Given the description of an element on the screen output the (x, y) to click on. 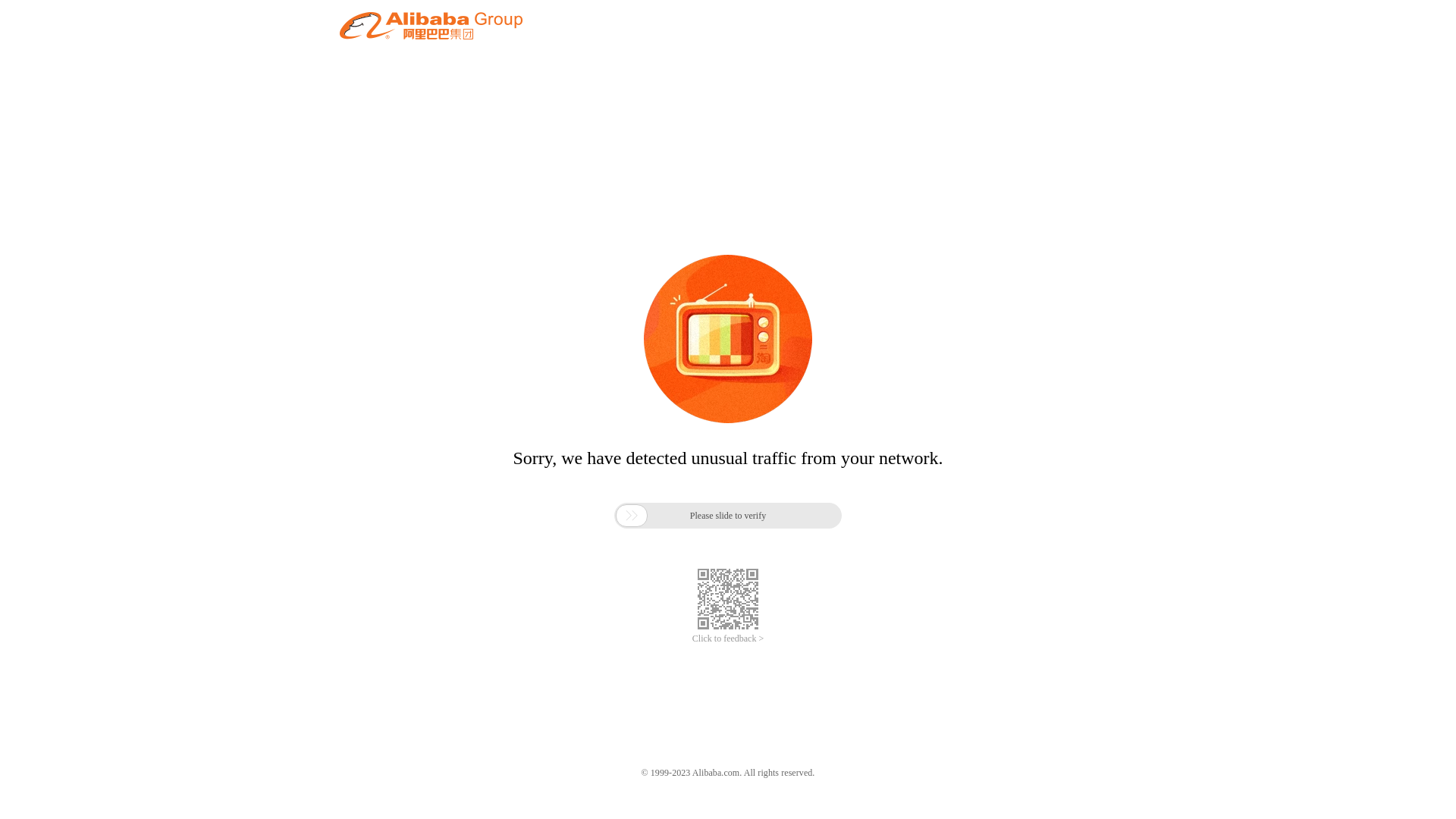
Click to feedback > Element type: text (727, 638)
